Given the description of an element on the screen output the (x, y) to click on. 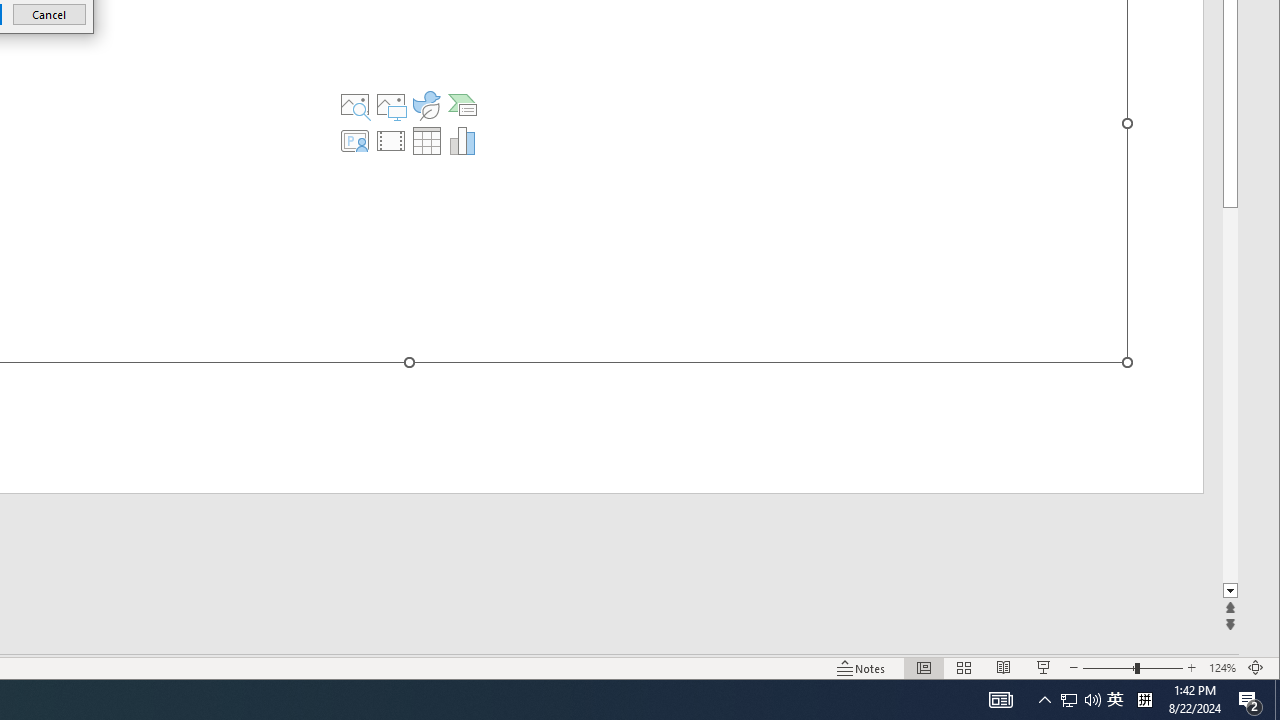
Action Center, 2 new notifications (1250, 699)
Notification Chevron (1044, 699)
Zoom 124% (1222, 668)
Insert an Icon (426, 104)
Tray Input Indicator - Chinese (Simplified, China) (1144, 699)
Insert Chart (462, 140)
Pictures (391, 104)
Insert Cameo (355, 140)
User Promoted Notification Area (1080, 699)
Q2790: 100% (1092, 699)
AutomationID: 4105 (1000, 699)
